Given the description of an element on the screen output the (x, y) to click on. 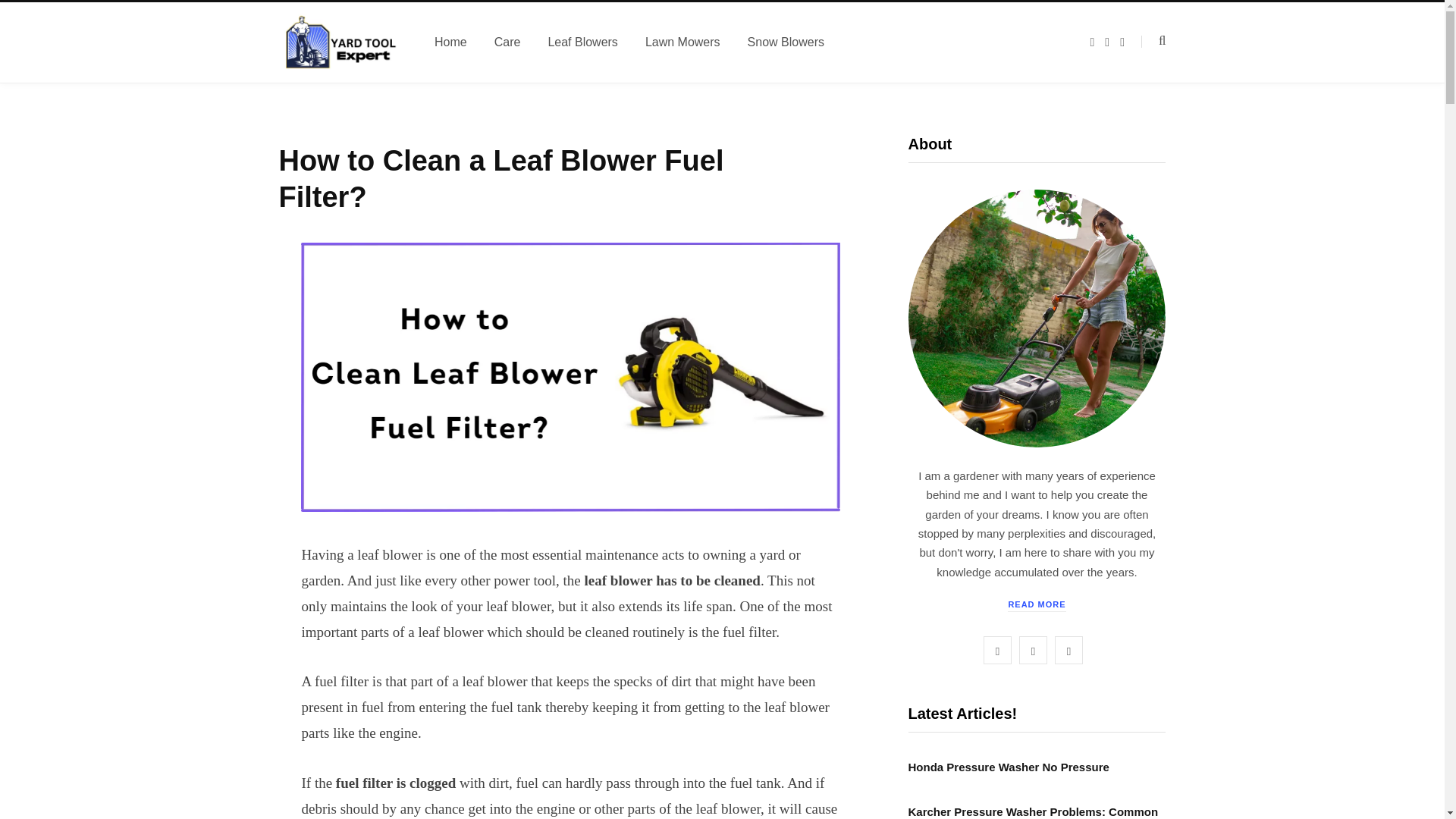
Home (450, 41)
Leaf Blowers (582, 41)
Search (1153, 41)
Lawn Mowers (682, 41)
Snow Blowers (785, 41)
Care (507, 41)
Yard Tool Expert (338, 42)
